Given the description of an element on the screen output the (x, y) to click on. 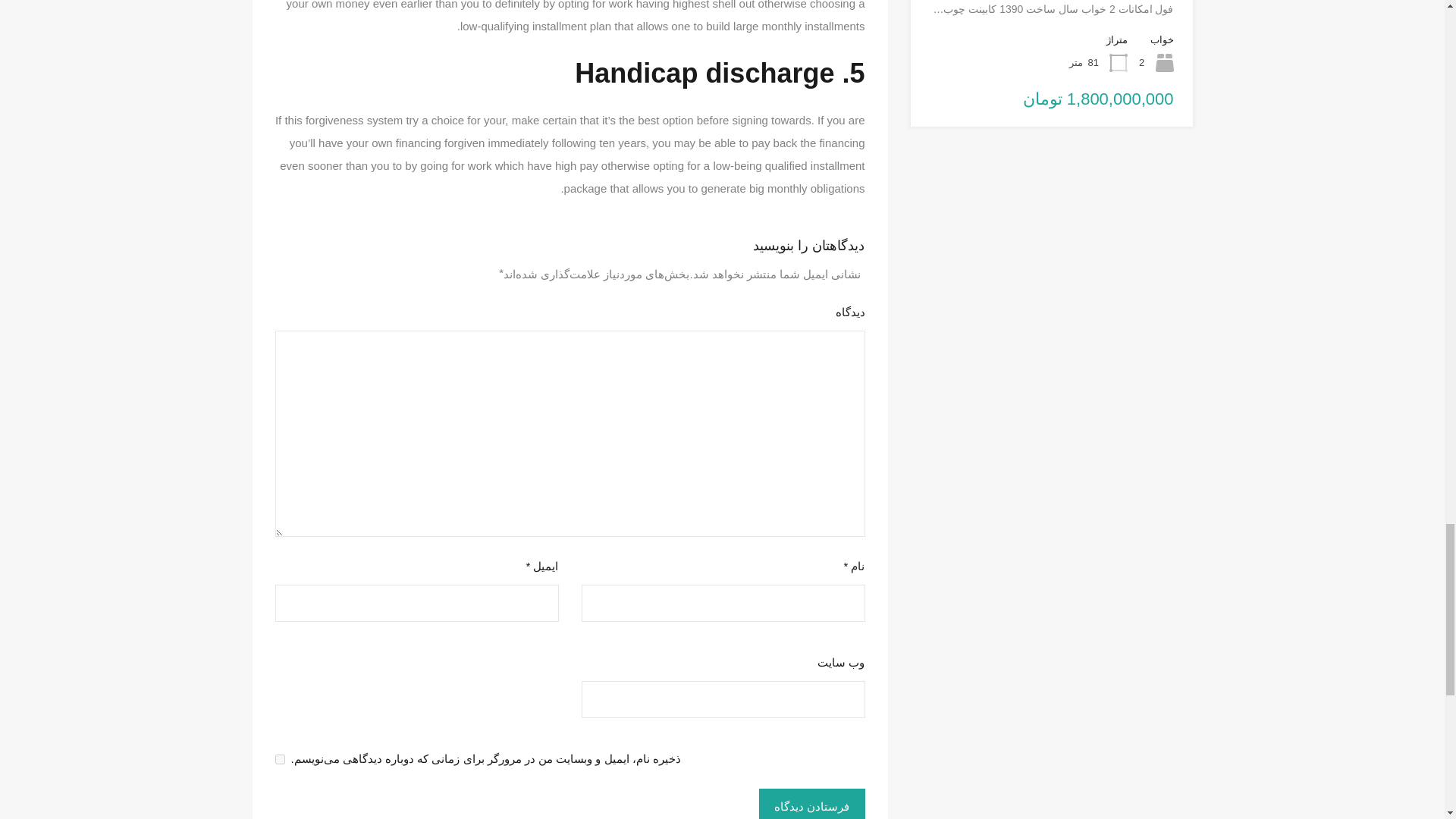
yes (279, 759)
